Given the description of an element on the screen output the (x, y) to click on. 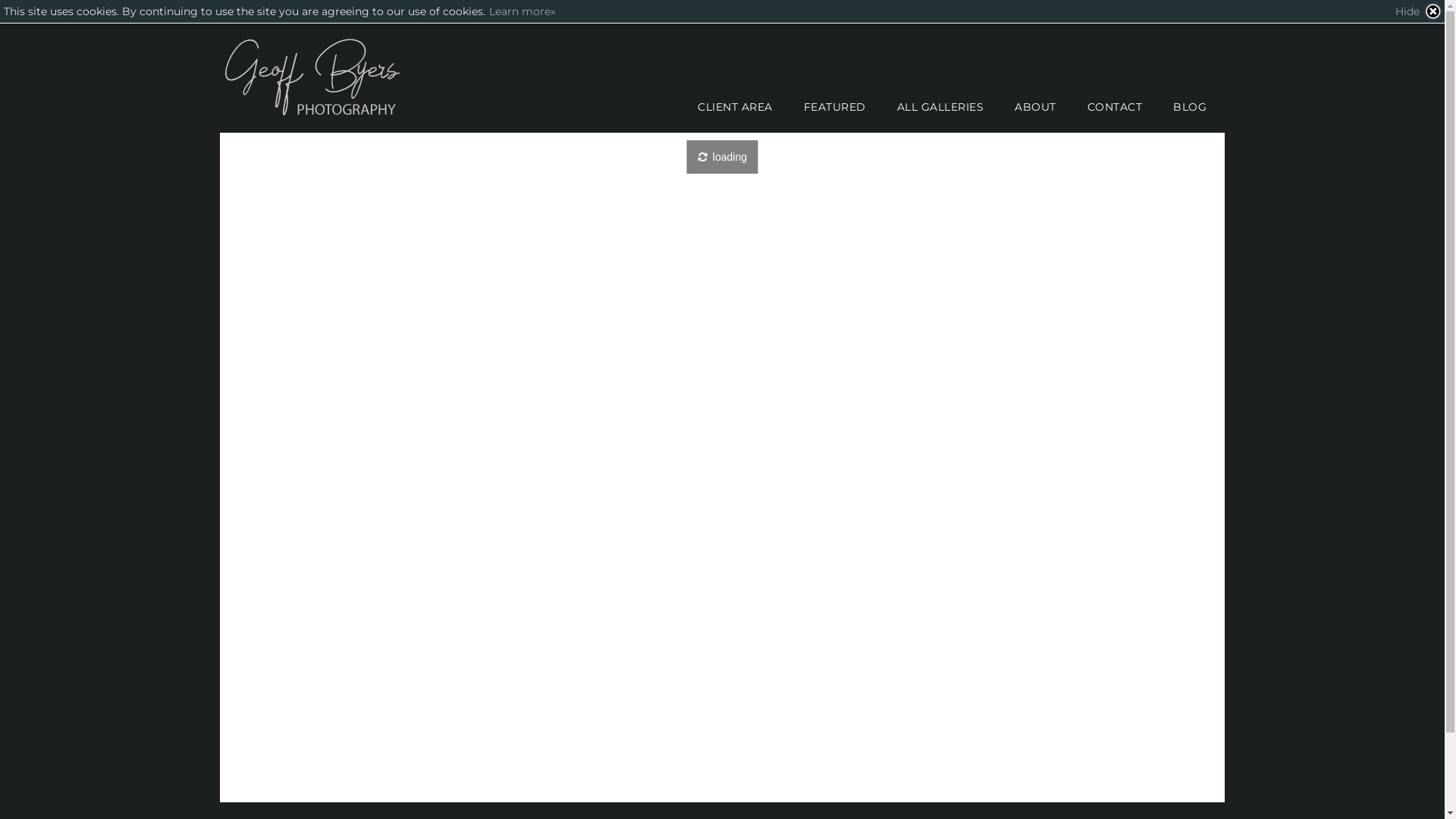
Hide Element type: text (1418, 11)
ALL GALLERIES Element type: text (940, 106)
CLIENT AREA Element type: text (735, 106)
BLOG Element type: text (1189, 106)
CONTACT Element type: text (1114, 106)
Geoff Byers Photography Element type: hover (314, 77)
FEATURED Element type: text (833, 106)
ABOUT Element type: text (1035, 106)
